Given the description of an element on the screen output the (x, y) to click on. 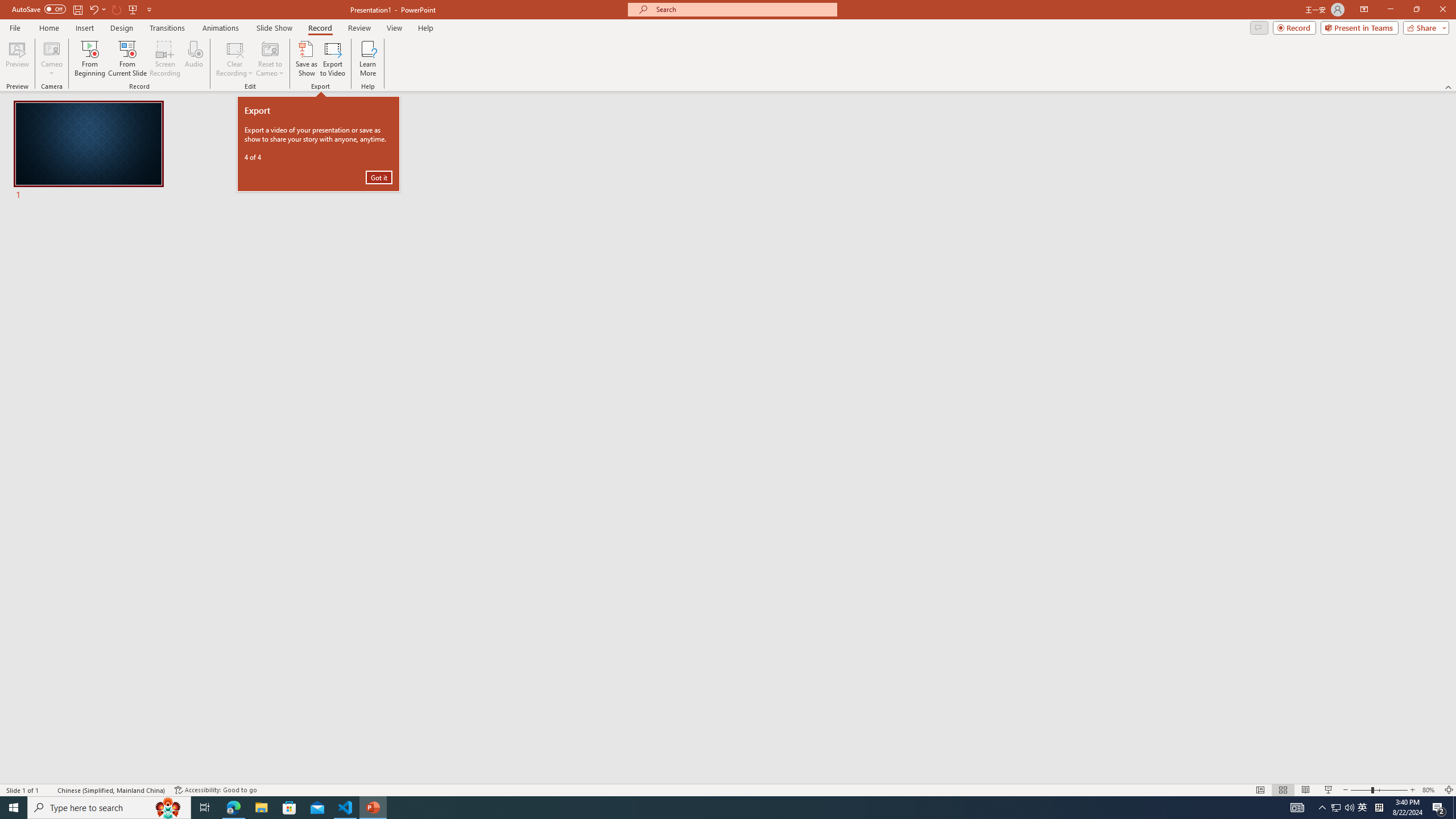
Save (77, 9)
Design (122, 28)
Class: MsoCommandBar (728, 789)
Slide Show (273, 28)
Zoom to Fit  (1449, 790)
Cameo (51, 48)
Slide Show (1328, 790)
Close (1442, 9)
File Explorer (261, 807)
File Tab (15, 27)
Export to Video (332, 58)
From Current Slide... (127, 58)
System (1335, 807)
